Given the description of an element on the screen output the (x, y) to click on. 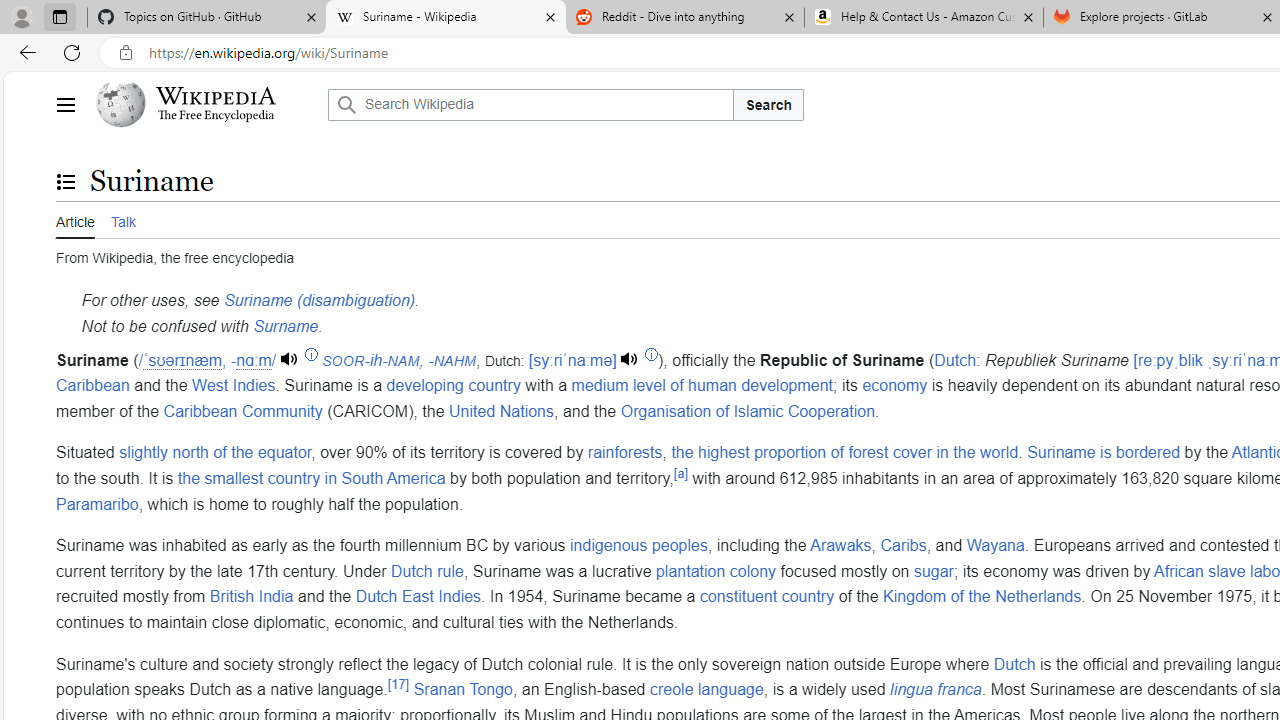
Suriname (disambiguation) (319, 301)
Main menu (65, 104)
Sranan Tongo (463, 690)
Paramaribo (97, 503)
Play audio (631, 359)
Wayana (995, 546)
Article (75, 219)
Suriname - Wikipedia (445, 17)
West Indies (234, 386)
Caribbean (93, 386)
creole language (706, 690)
